Given the description of an element on the screen output the (x, y) to click on. 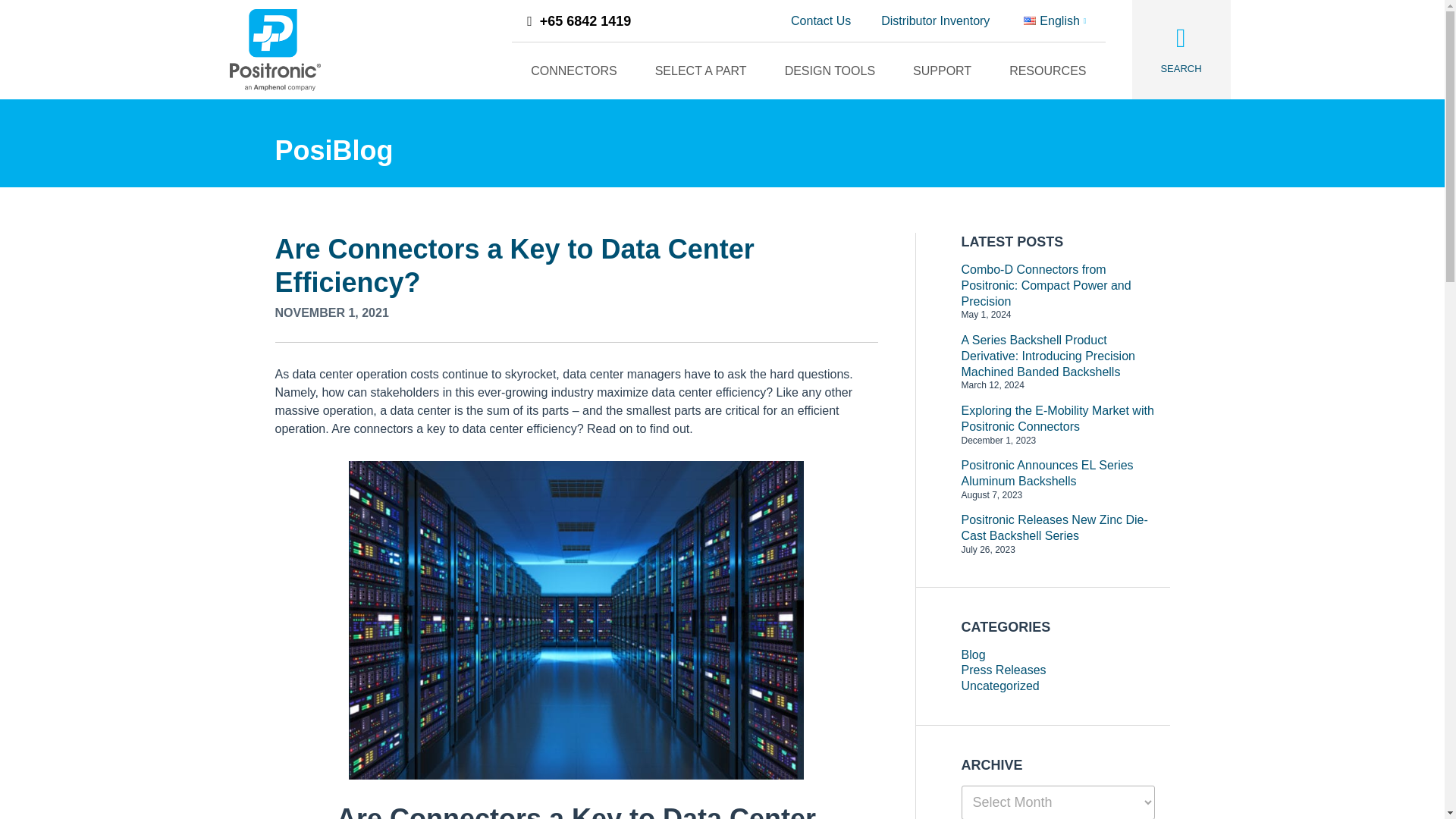
RESOURCES (1047, 70)
Positronic (274, 48)
SUPPORT (941, 70)
SELECT A PART (700, 70)
CONNECTORS (574, 70)
Distributor Inventory (935, 20)
English (1054, 20)
Back home. (274, 48)
Contact Us (821, 20)
DESIGN TOOLS (829, 70)
